Given the description of an element on the screen output the (x, y) to click on. 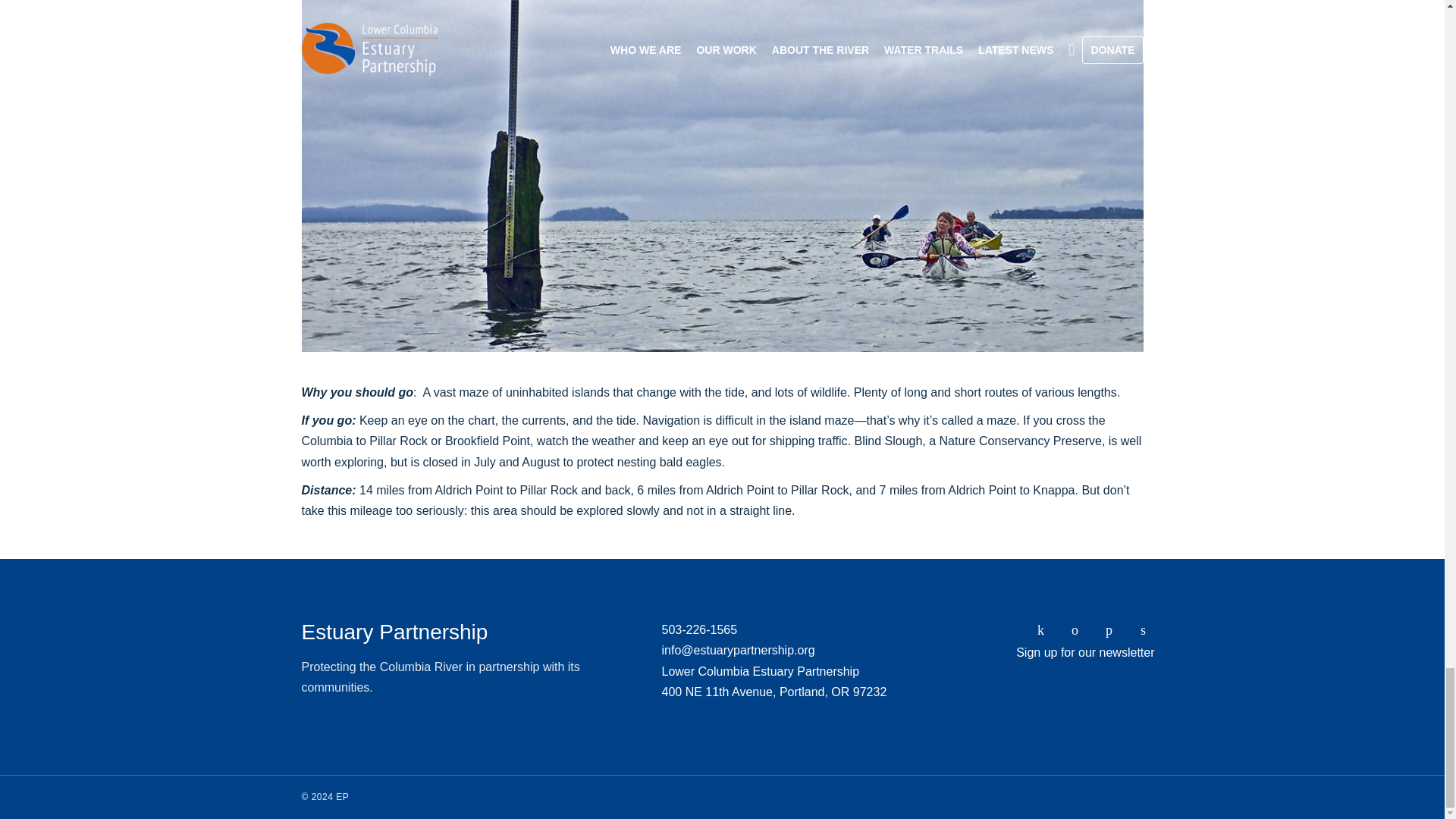
Sign up for our newsletter (1085, 652)
503-226-1565 (698, 629)
